Given the description of an element on the screen output the (x, y) to click on. 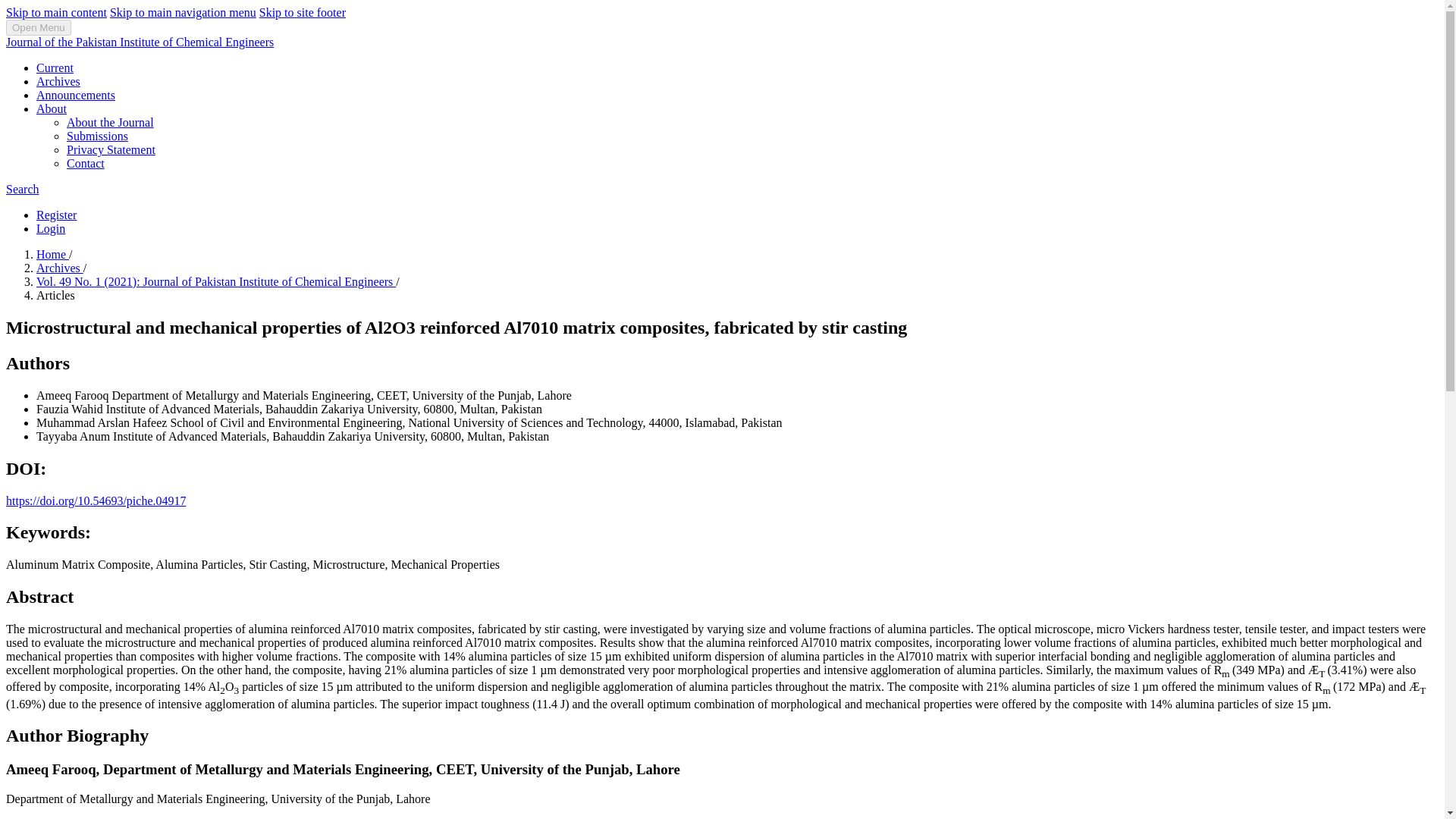
Login (50, 228)
Journal of the Pakistan Institute of Chemical Engineers (139, 42)
Submissions (97, 135)
Register (56, 214)
Archives (58, 81)
Search (22, 188)
Current (55, 67)
About (51, 108)
Archives (59, 267)
Skip to main navigation menu (183, 11)
